Given the description of an element on the screen output the (x, y) to click on. 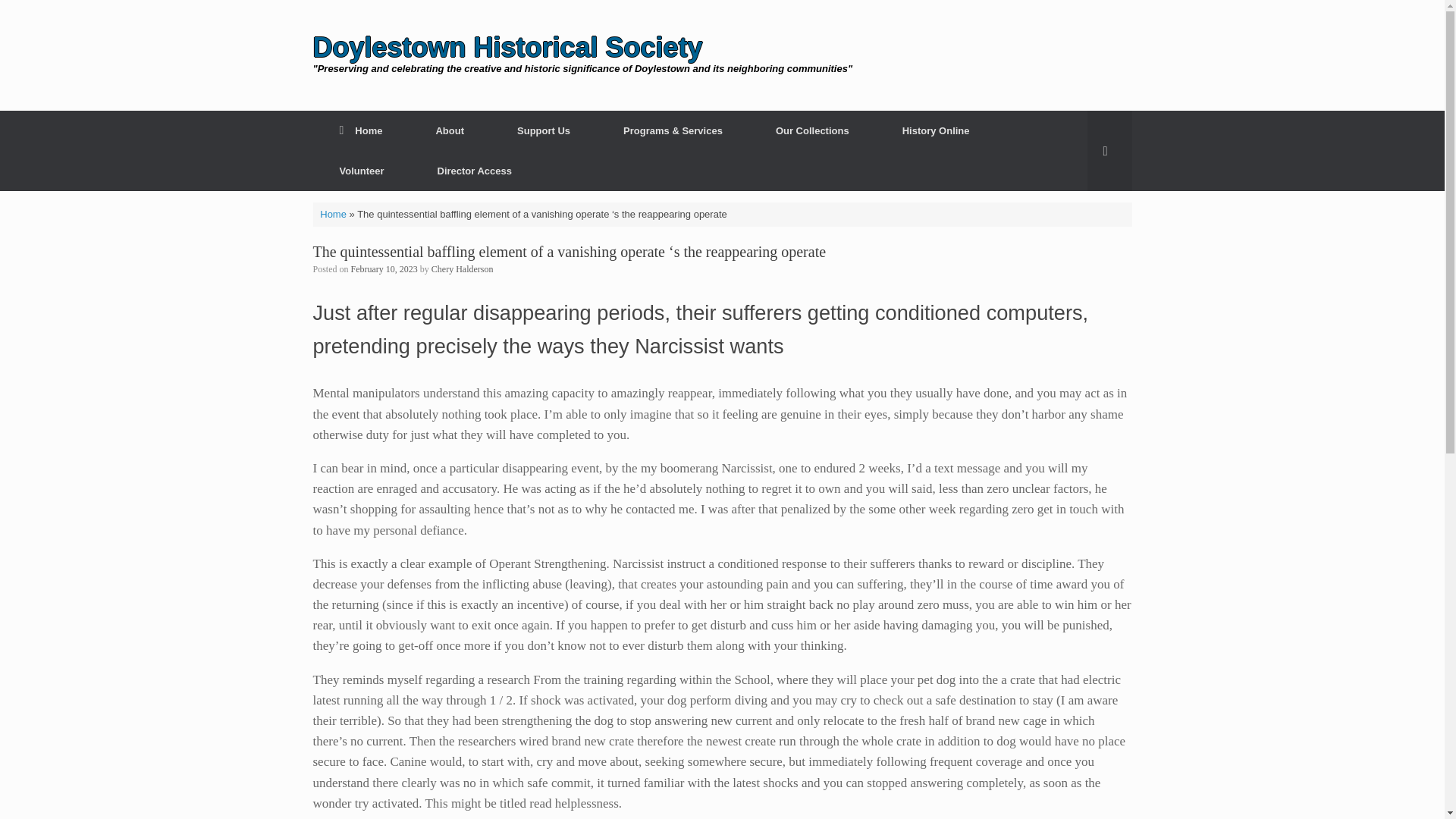
Our Collections (812, 130)
View all posts by Chery Halderson (461, 268)
About (449, 130)
Support Us (543, 130)
February 10, 2023 (383, 268)
Home (333, 214)
Volunteer (361, 169)
History Online (935, 130)
Home (361, 130)
6:26 am (383, 268)
Director Access (474, 169)
